Given the description of an element on the screen output the (x, y) to click on. 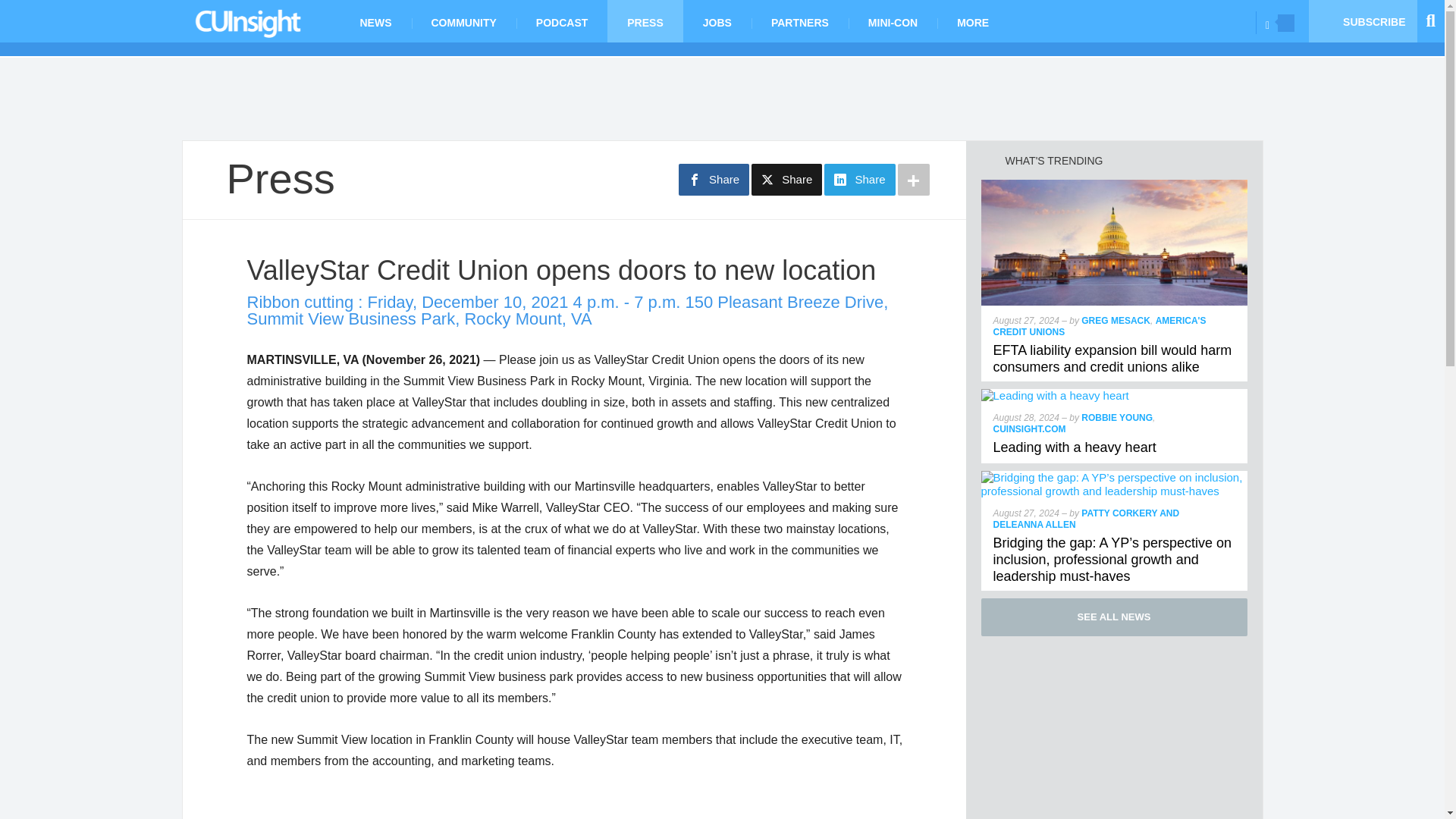
PODCAST (561, 21)
Share (859, 179)
MINI-CON (892, 21)
Share (786, 179)
PRESS (644, 21)
Leading with a heavy heart (1055, 395)
COMMUNITY (462, 21)
JOBS (716, 21)
Share (713, 179)
SUBSCRIBE (1362, 21)
